Given the description of an element on the screen output the (x, y) to click on. 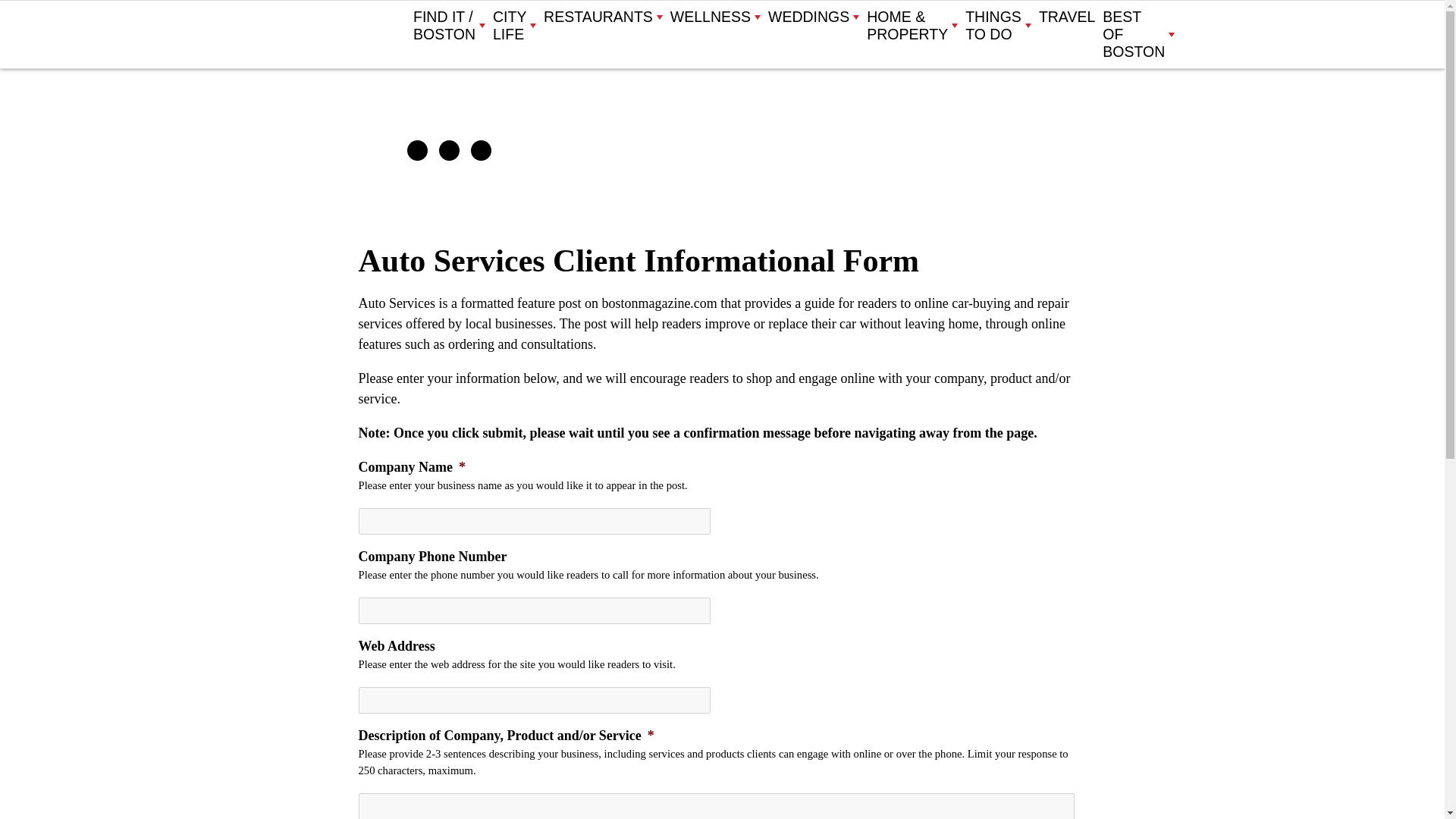
RESTAURANTS (602, 16)
WELLNESS (714, 16)
THINGS TO DO (997, 25)
WEDDINGS (813, 16)
